Given the description of an element on the screen output the (x, y) to click on. 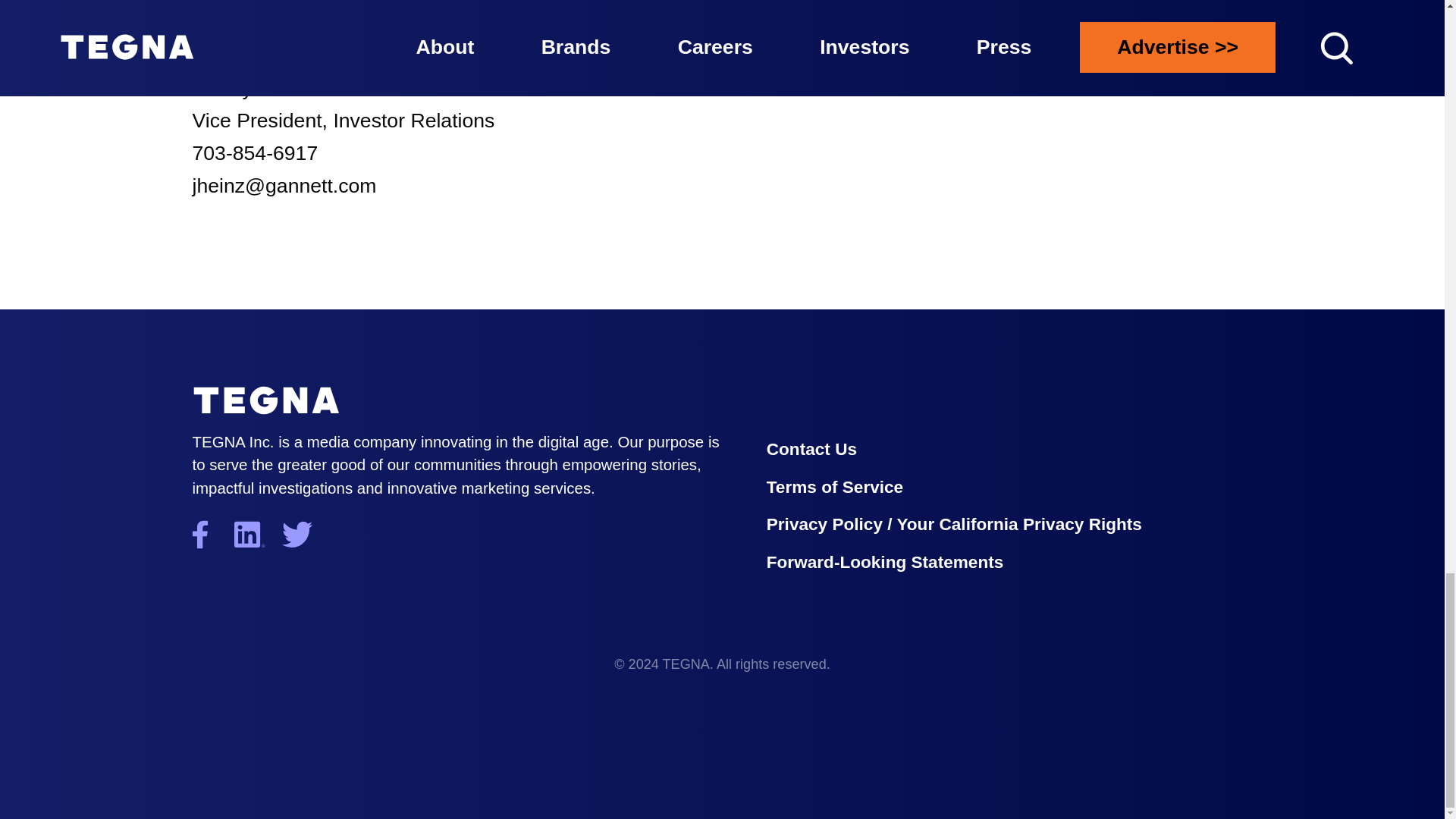
Connect with us on Twitter. (306, 534)
Connect with us on Facebook. (211, 534)
Connect with us on Linkedin. (256, 534)
TEGNA (266, 400)
